Given the description of an element on the screen output the (x, y) to click on. 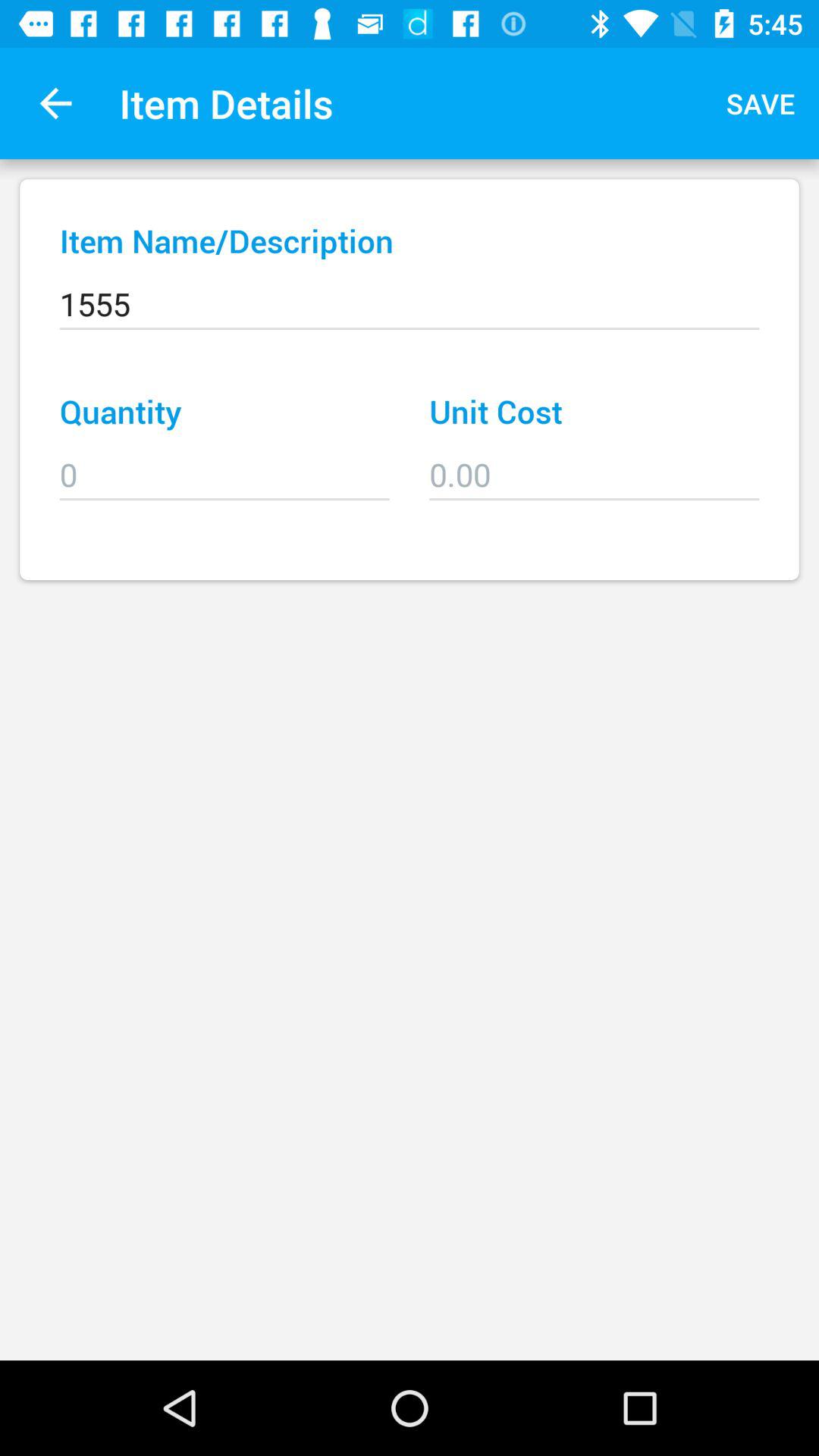
tap item below unit cost icon (594, 463)
